Given the description of an element on the screen output the (x, y) to click on. 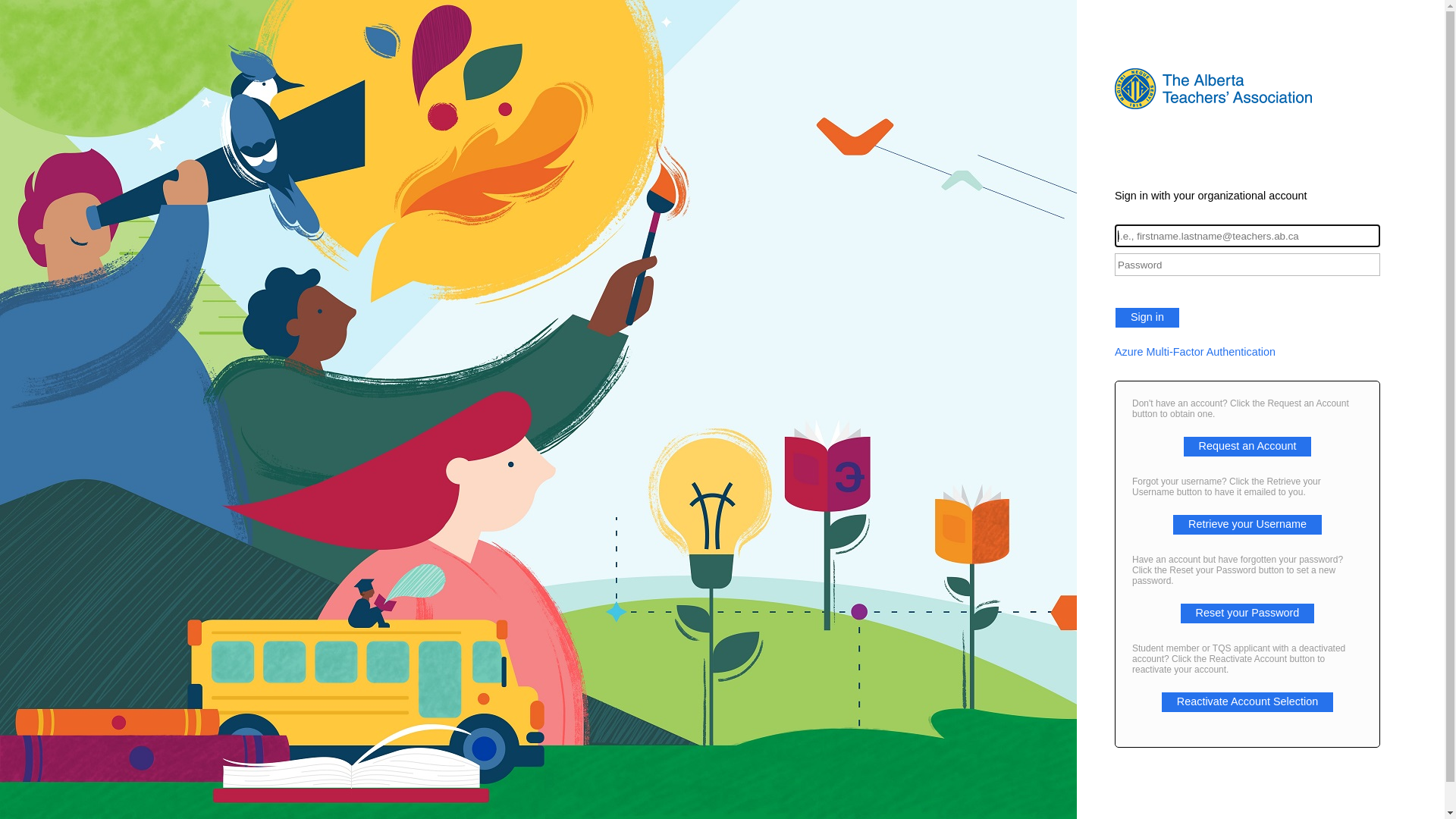
Sign in Element type: text (1146, 317)
Reactivate Account Selection Element type: text (1247, 701)
Azure Multi-Factor Authentication Element type: text (1247, 351)
Retrieve your Username Element type: text (1247, 523)
Request an Account Element type: text (1247, 445)
Reset your Password Element type: text (1247, 612)
